Given the description of an element on the screen output the (x, y) to click on. 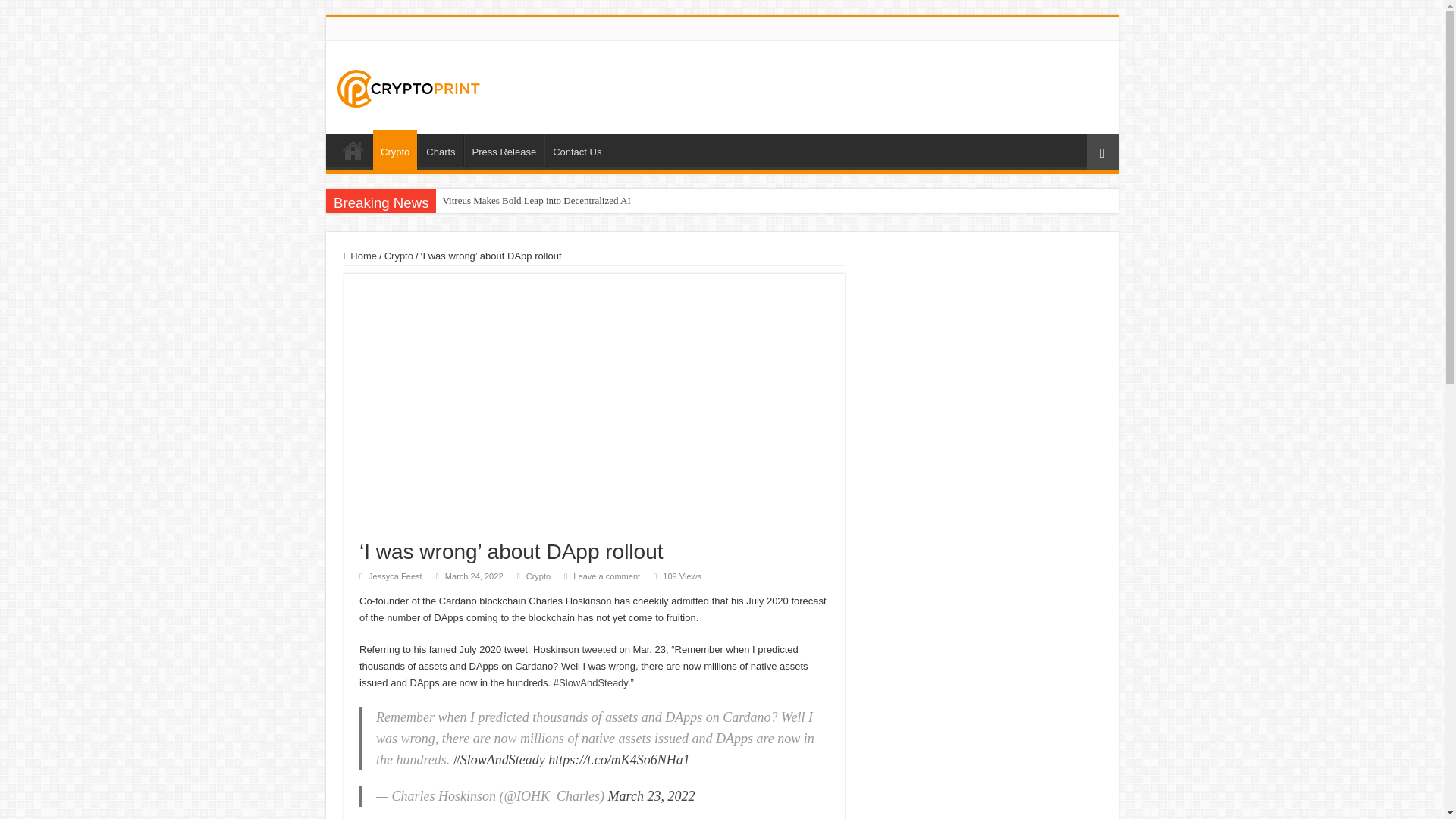
Contact Us (576, 150)
Random Article (1102, 151)
Jessyca Feest (395, 575)
Leave a comment (606, 575)
Vitreus Makes Bold Leap into Decentralized AI (686, 200)
Charts (440, 150)
Home (360, 255)
Crypto (398, 255)
Crypto (394, 149)
Crypto (538, 575)
